Given the description of an element on the screen output the (x, y) to click on. 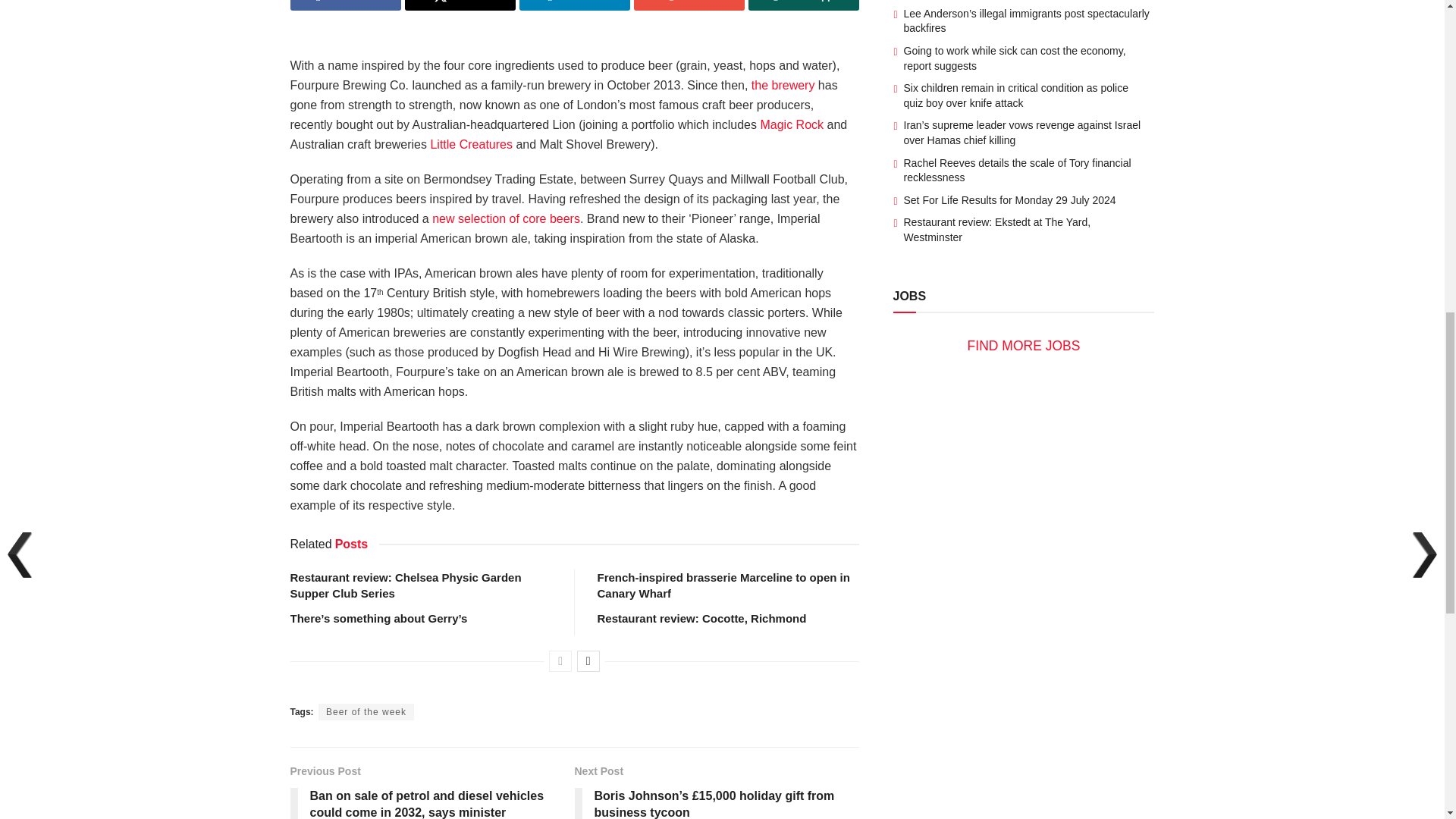
Next (587, 660)
Previous (560, 660)
